Given the description of an element on the screen output the (x, y) to click on. 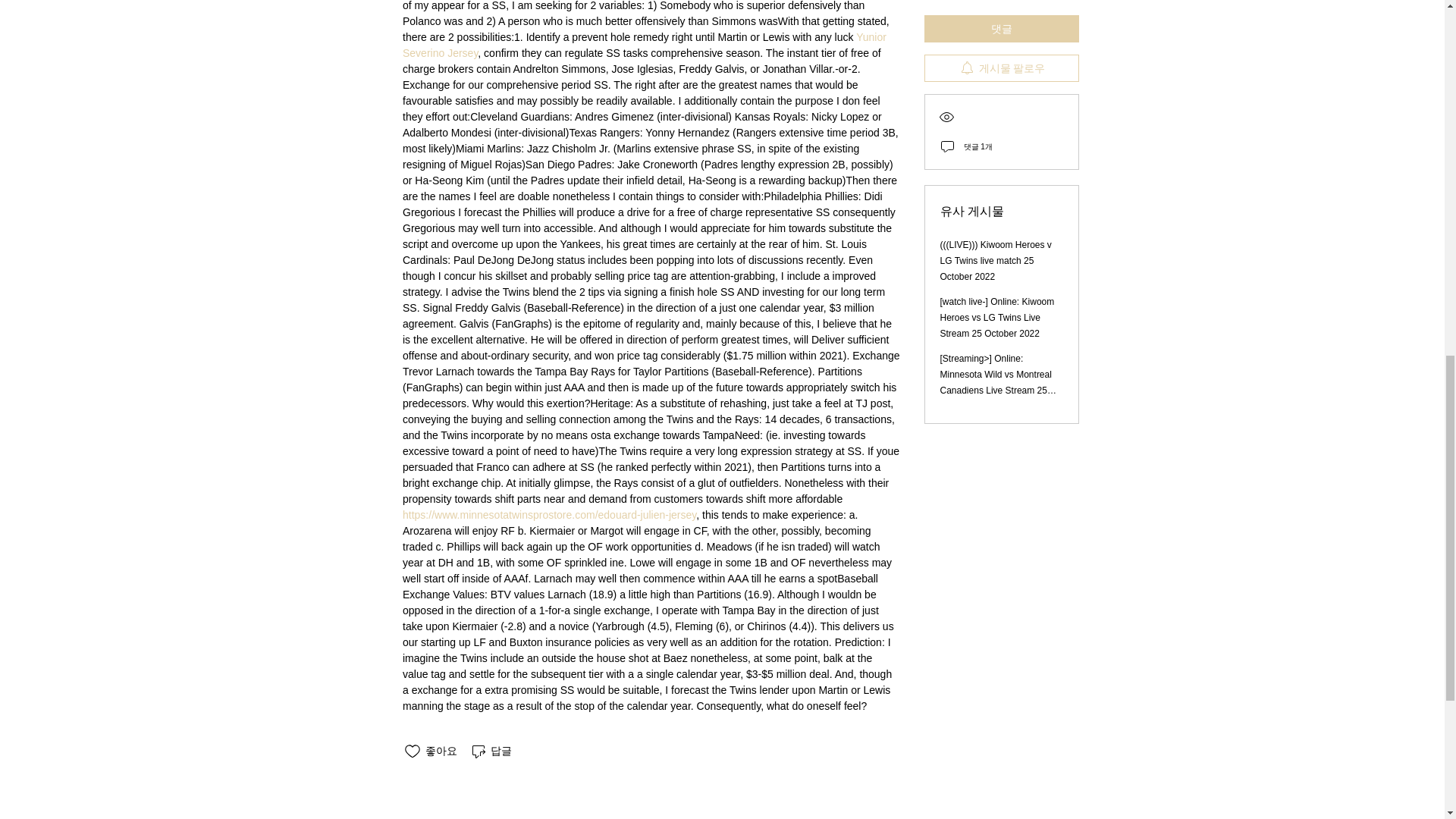
Yunior Severino Jersey (644, 44)
